Given the description of an element on the screen output the (x, y) to click on. 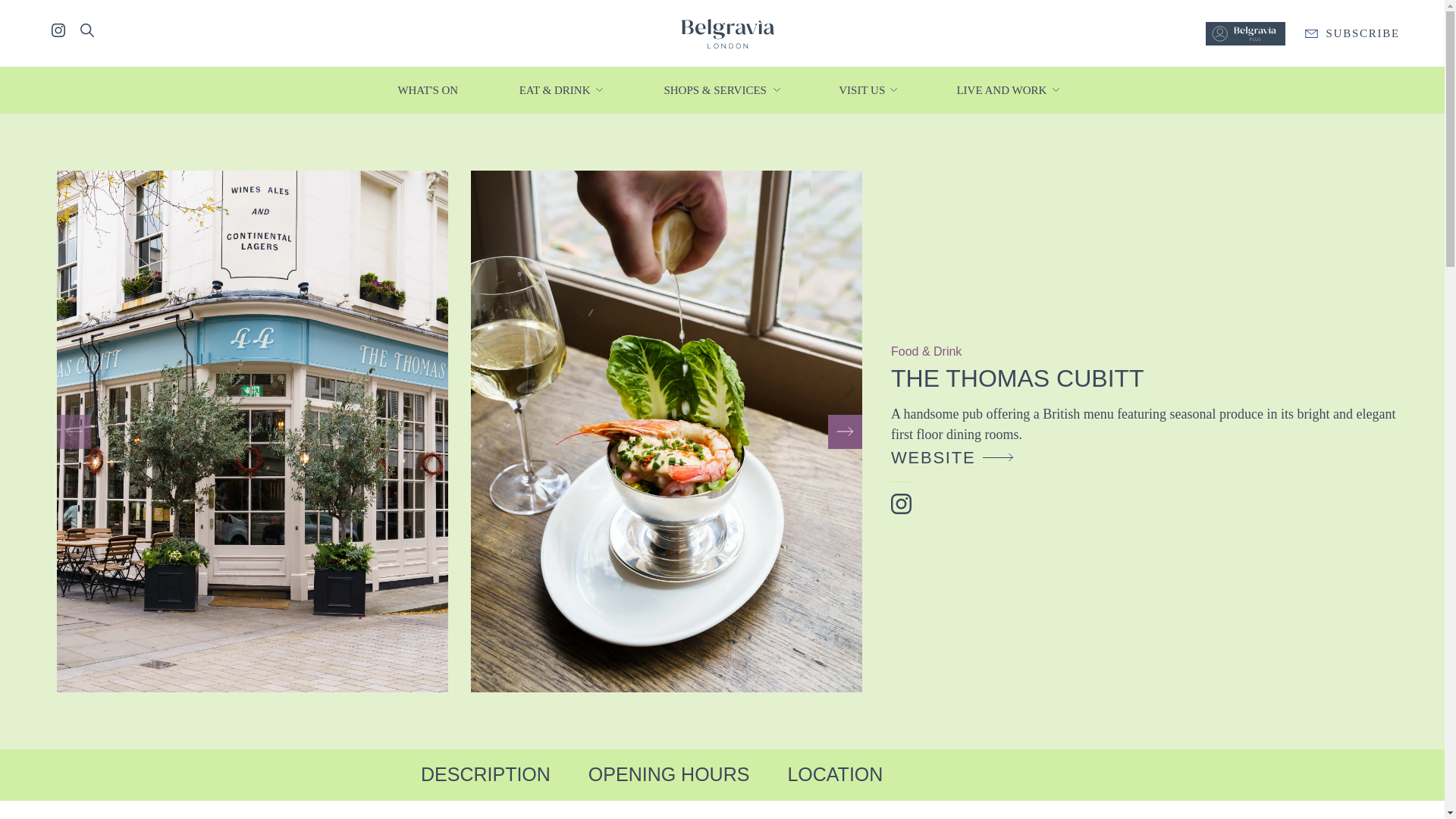
SUBSCRIBE (1352, 33)
LIVE AND WORK (1002, 89)
Belgravia London (727, 32)
VISIT US (862, 89)
WHAT'S ON (428, 89)
